Given the description of an element on the screen output the (x, y) to click on. 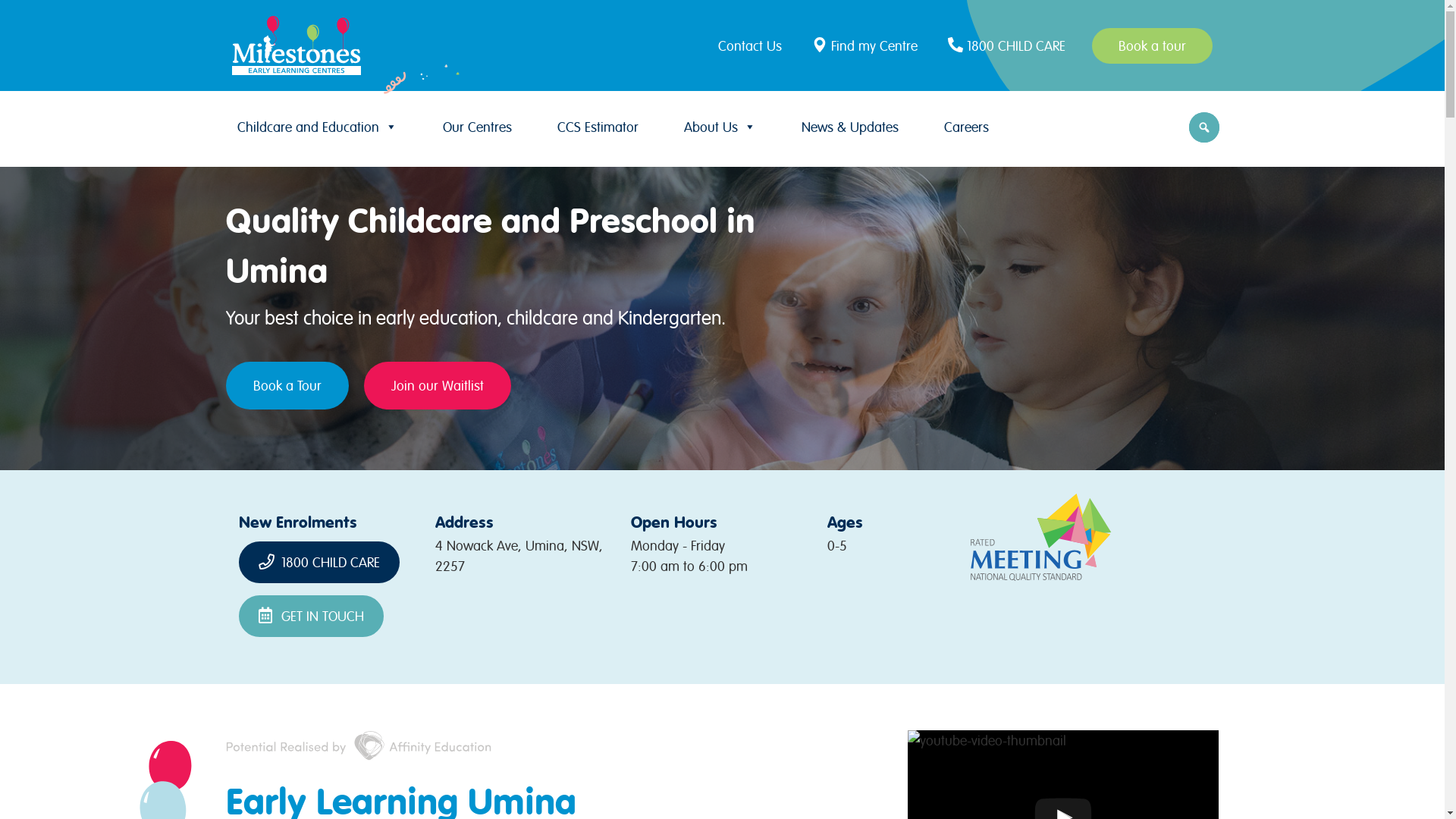
News & Updates Element type: text (849, 127)
Book a Tour Element type: text (286, 385)
Search Element type: text (15, 17)
1800 CHILD CARE Element type: text (318, 562)
potential-realised-by-affinity-education Element type: hover (358, 745)
Book a tour Element type: text (1152, 44)
Childcare and Education Element type: text (316, 127)
Find my Centre Element type: text (866, 44)
Join our Waitlist Element type: text (437, 385)
1800 CHILD CARE Element type: text (1008, 44)
Careers Element type: text (965, 127)
About Us Element type: text (719, 127)
Contact Us Element type: text (753, 44)
GET IN TOUCH Element type: text (310, 616)
Our Centres Element type: text (477, 127)
CCS Estimator Element type: text (597, 127)
